Given the description of an element on the screen output the (x, y) to click on. 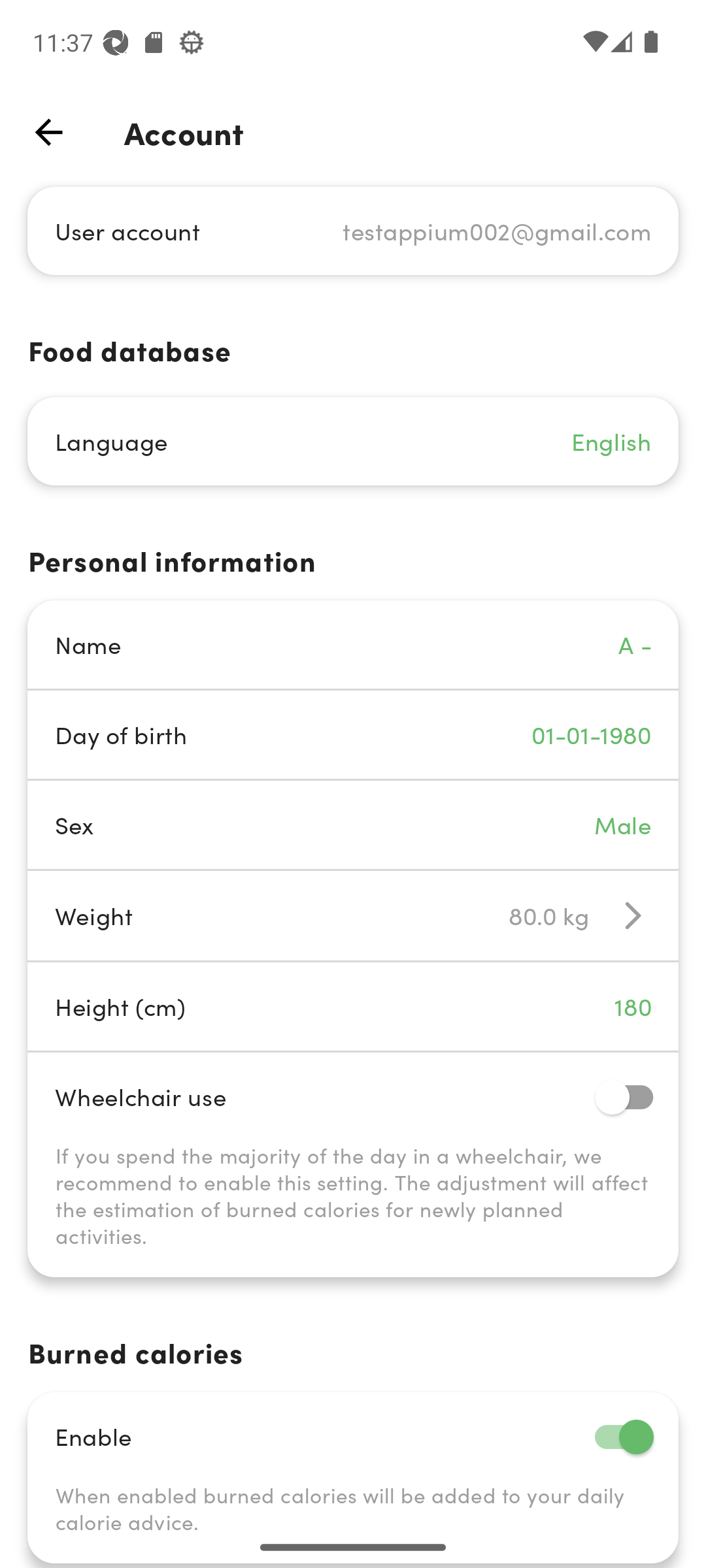
top_left_action (48, 132)
User account testappium002@gmail.com (352, 230)
Language English (352, 441)
Name A - (352, 644)
Day of birth 01-01-1980 (352, 734)
Sex Male (352, 824)
Weight 80.0 kg (352, 914)
Height (cm) 180 (352, 1006)
Wheelchair use (352, 1096)
Enable (352, 1436)
